Given the description of an element on the screen output the (x, y) to click on. 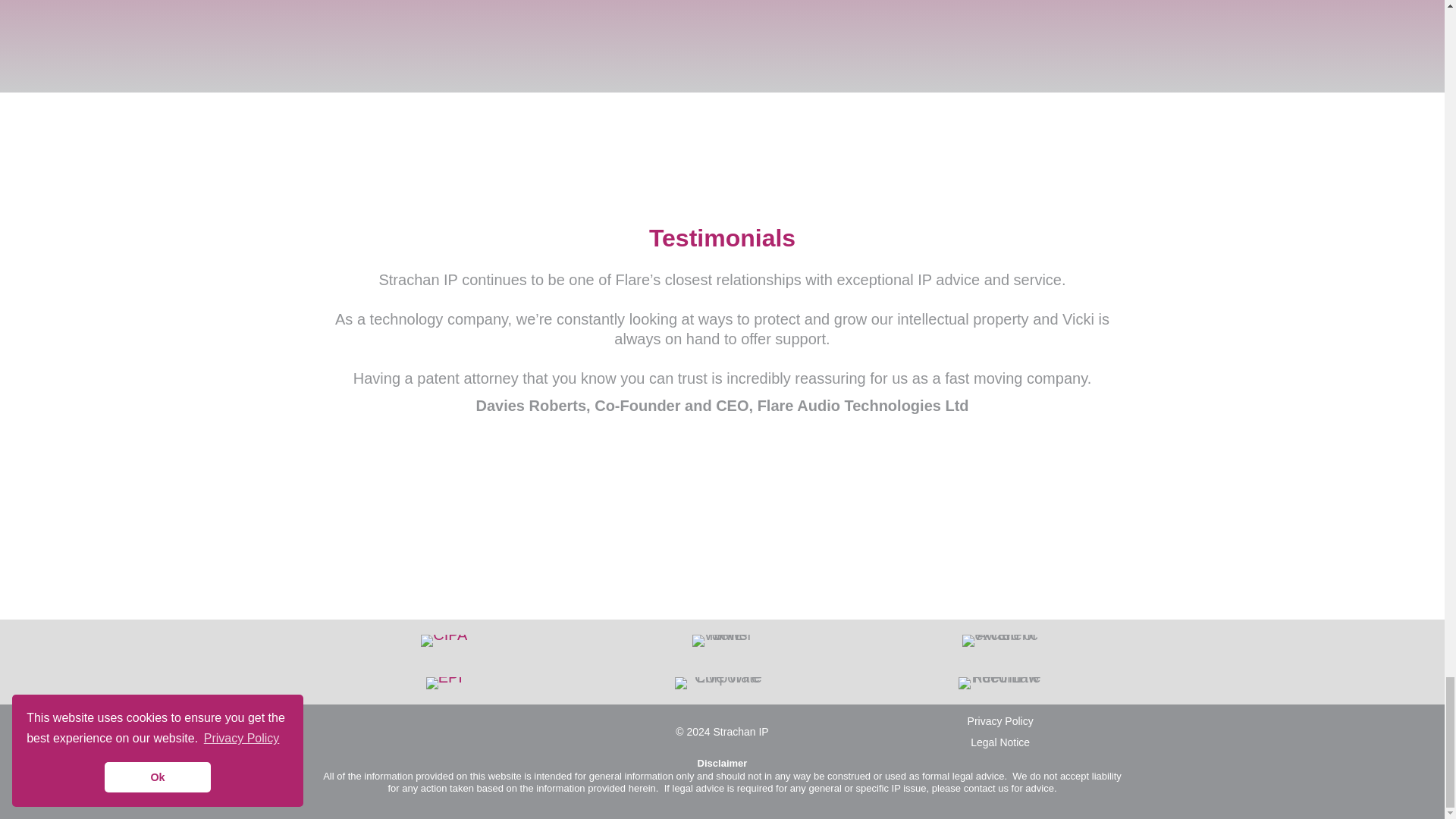
Privacy Policy (1000, 720)
Legal Notice (1000, 742)
